Given the description of an element on the screen output the (x, y) to click on. 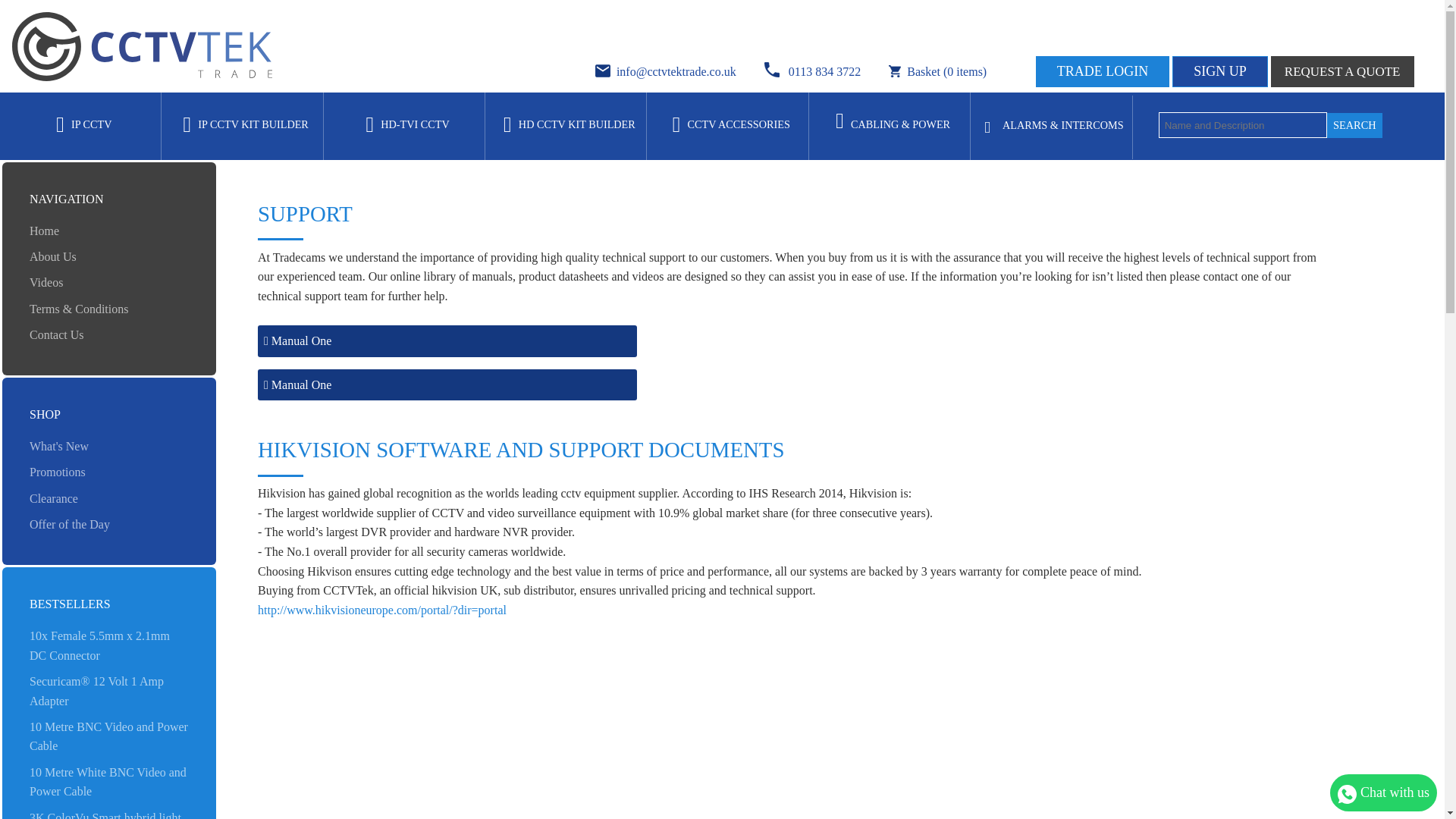
Search (1353, 125)
Videos (45, 282)
Home (44, 230)
Contact Us (56, 334)
TRADE LOGIN (1102, 71)
About Us (53, 256)
SIGN UP (1220, 71)
REQUEST A QUOTE (1342, 71)
